Given the description of an element on the screen output the (x, y) to click on. 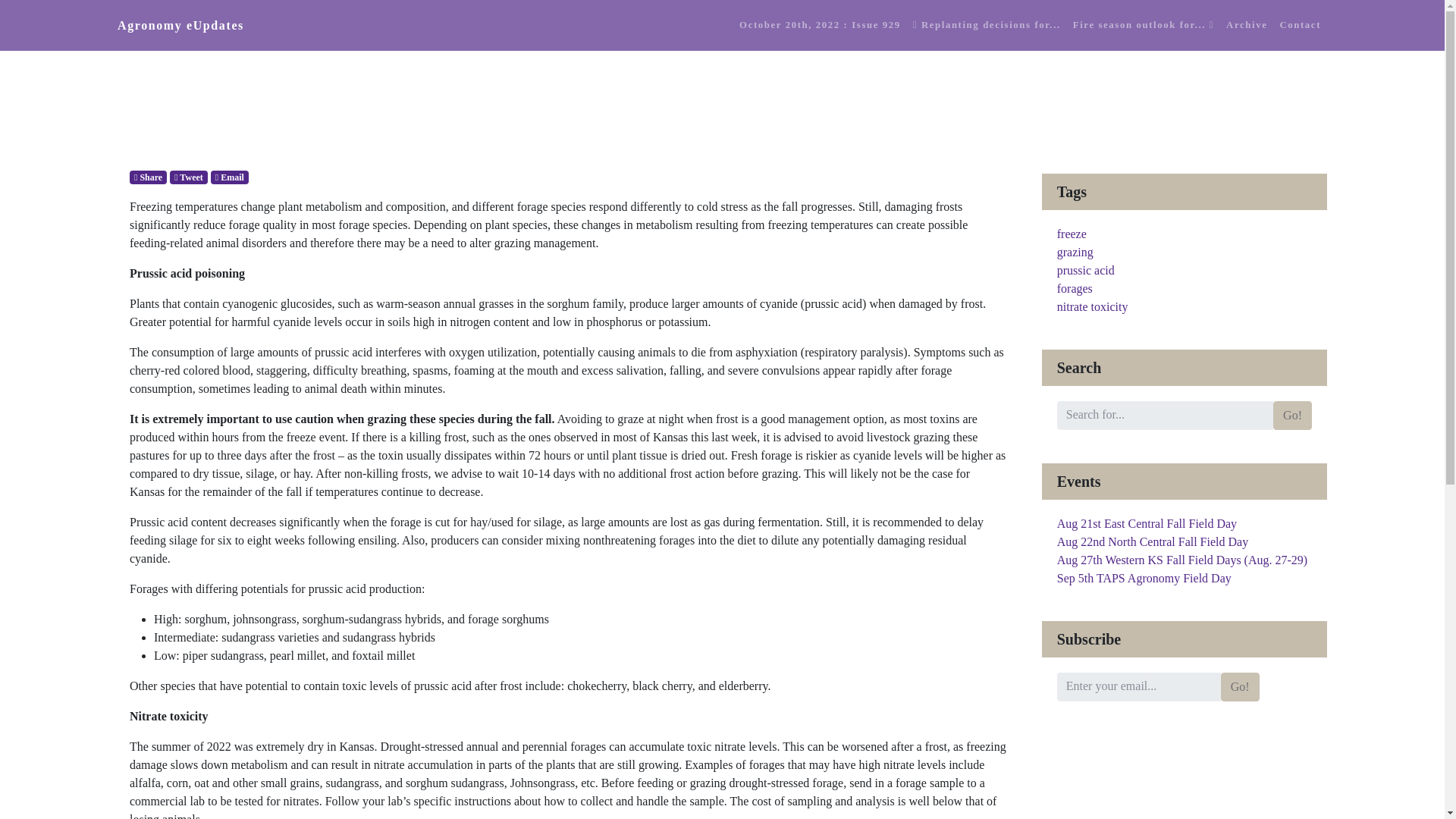
freeze (1071, 233)
Go! (1240, 686)
Agronomy eUpdates (180, 25)
Fire season outlook for...  (1143, 25)
forages (1075, 287)
Aug 21st East Central Fall Field Day (1146, 522)
Tweet (189, 177)
October 20th, 2022 : Issue 929 (820, 25)
nitrate toxicity (1092, 306)
prussic acid (1086, 269)
